Given the description of an element on the screen output the (x, y) to click on. 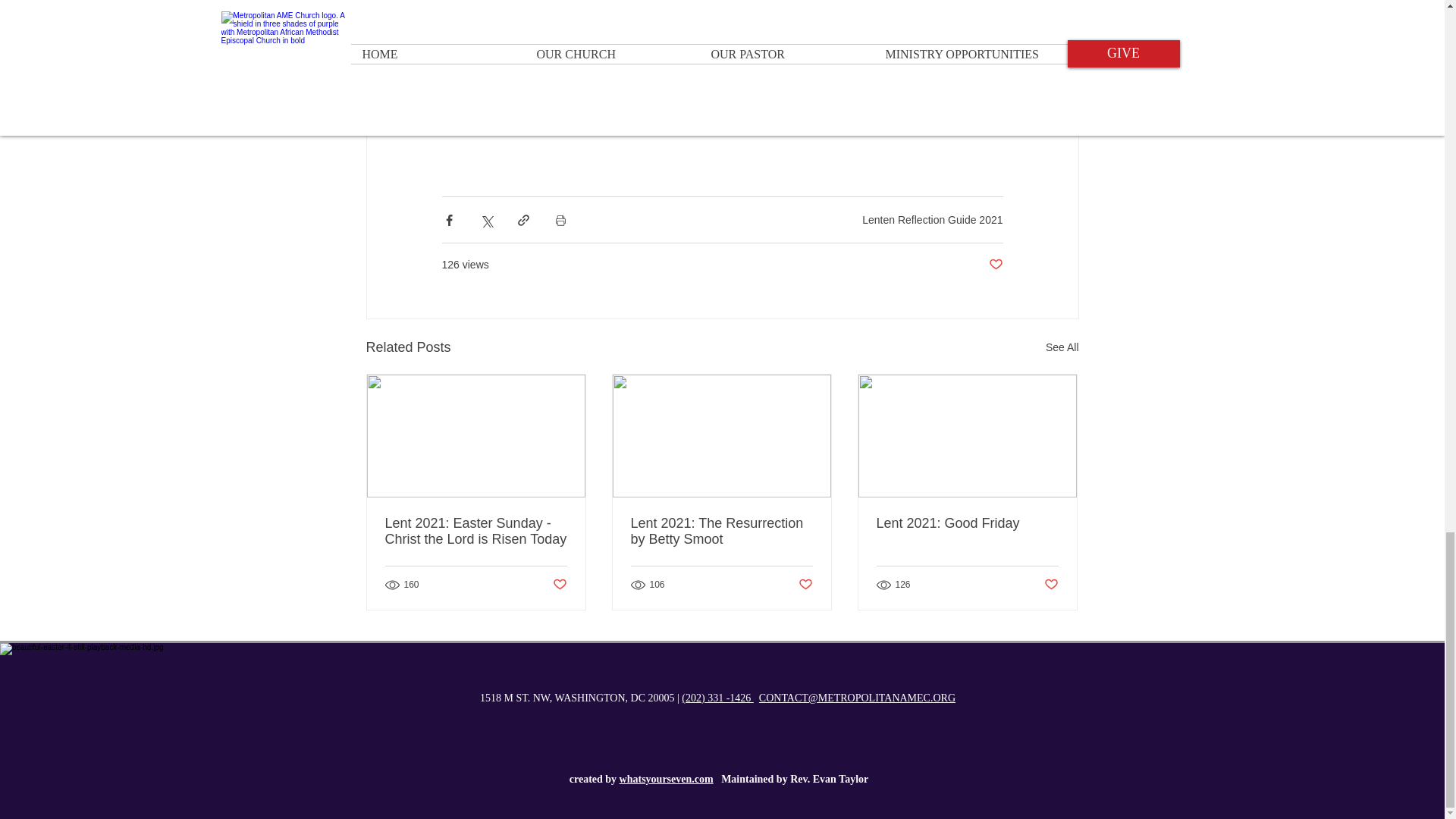
Lenten Reflection Guide 2021 (932, 219)
See All (1061, 347)
download the book (682, 81)
Post not marked as liked (995, 264)
